Given the description of an element on the screen output the (x, y) to click on. 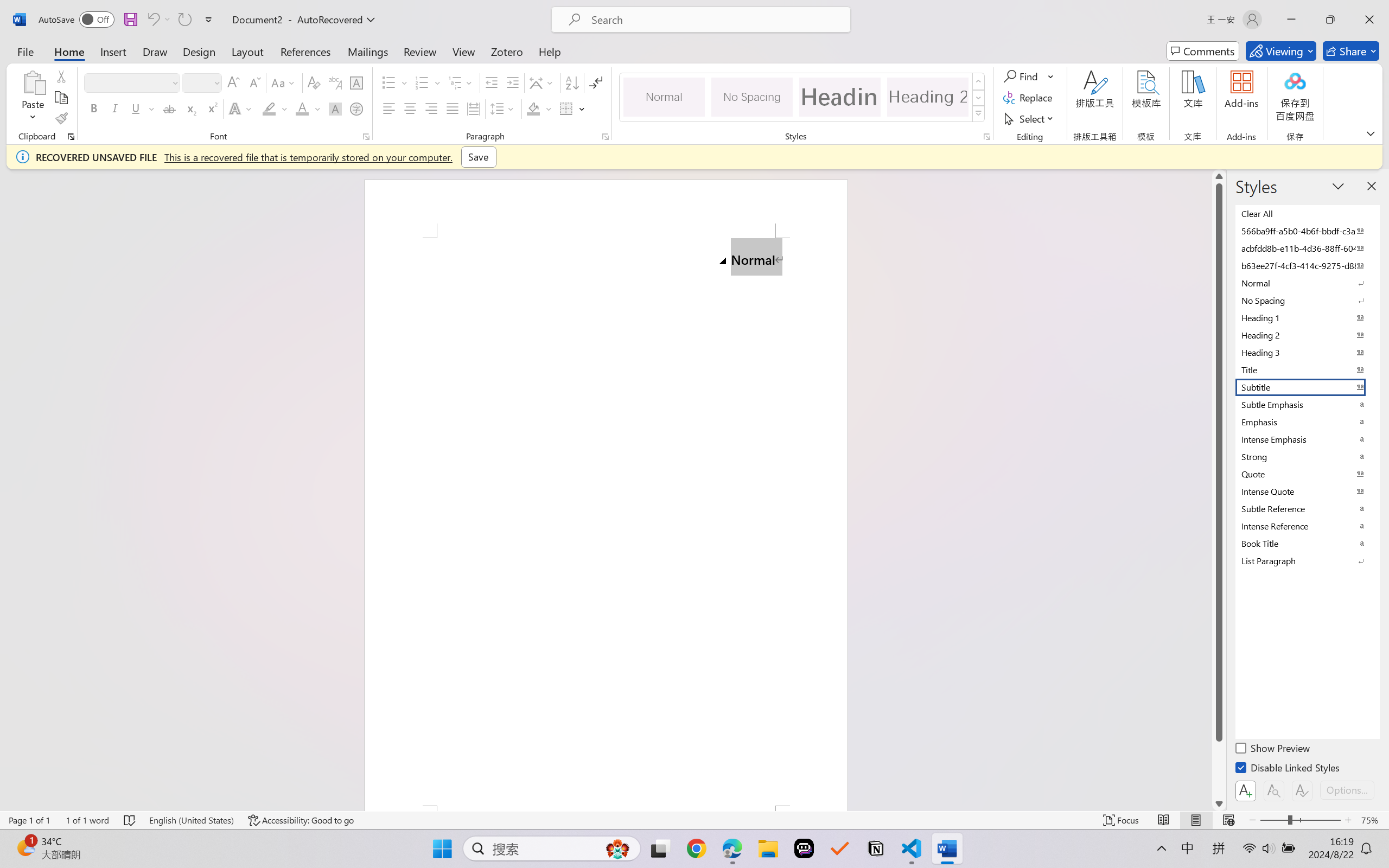
Align Left (388, 108)
Subtle Emphasis (1306, 404)
Task Pane Options (1338, 185)
Superscript (210, 108)
Heading 3 (1306, 352)
Bold (94, 108)
Subtitle (1306, 386)
Book Title (1306, 543)
No Spacing (1306, 300)
